Given the description of an element on the screen output the (x, y) to click on. 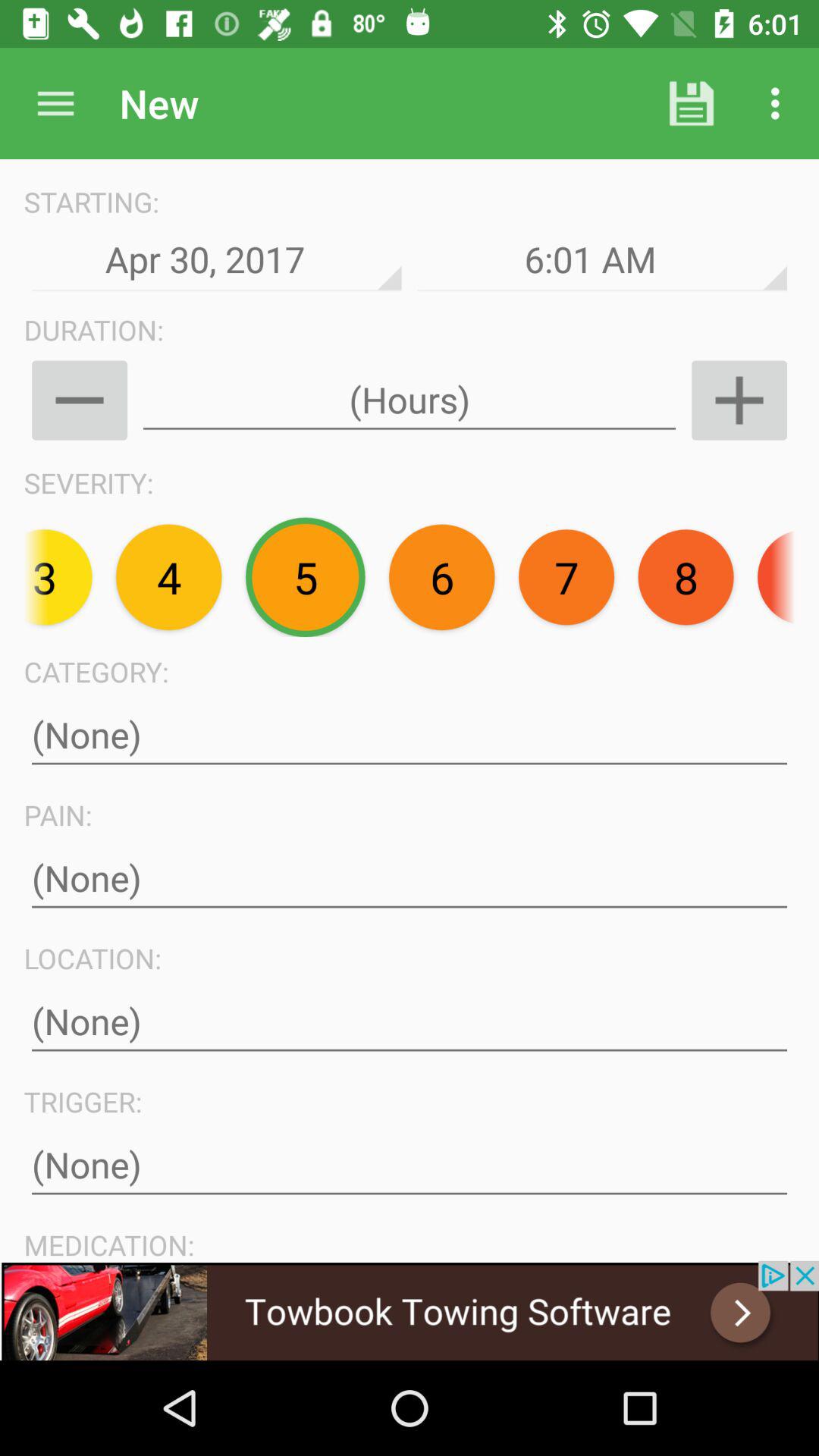
click to minus option (79, 400)
